Given the description of an element on the screen output the (x, y) to click on. 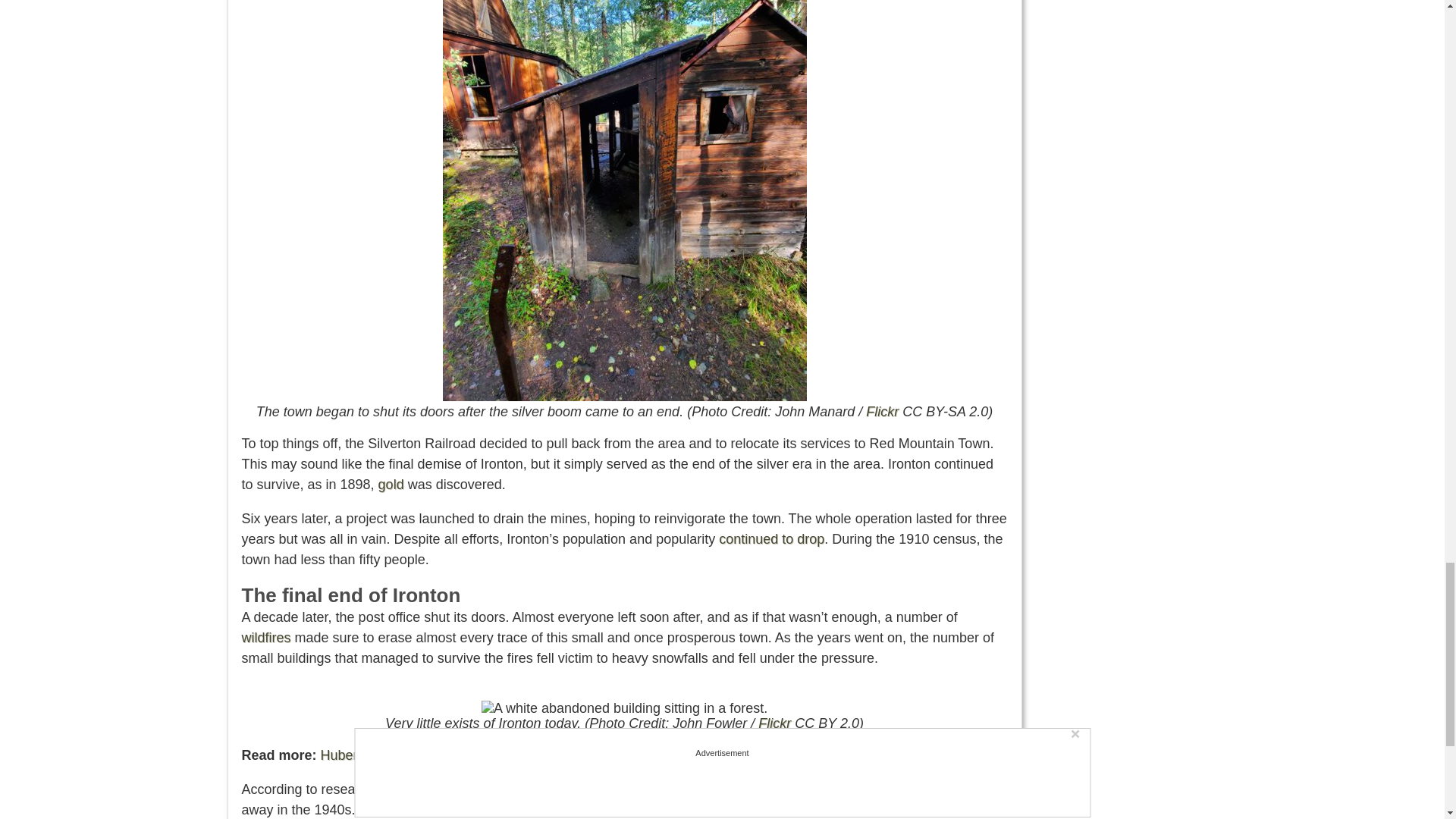
Flickr (774, 723)
continued to drop (771, 539)
wildfires (265, 637)
gold (391, 484)
Flickr (882, 411)
